Given the description of an element on the screen output the (x, y) to click on. 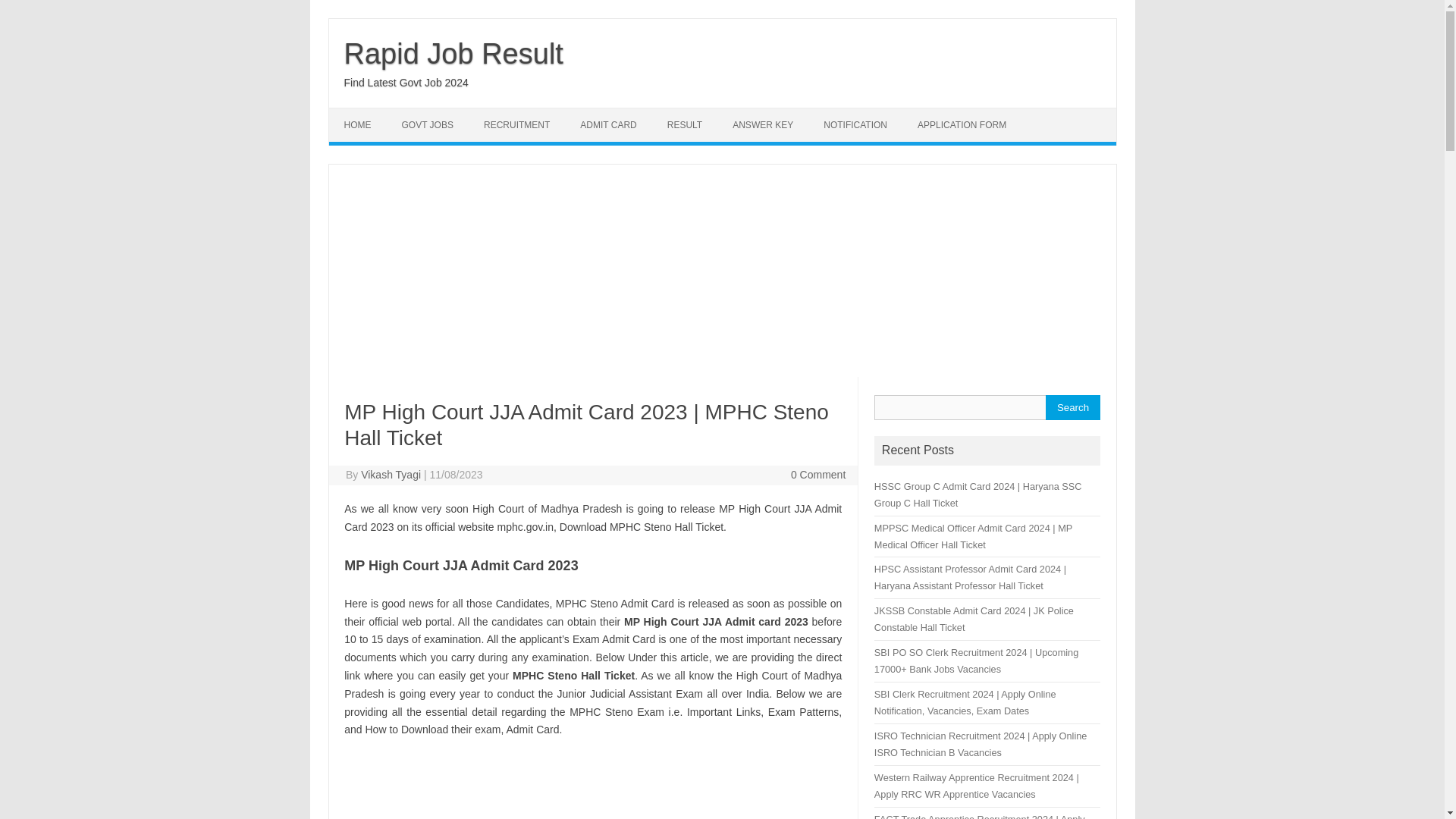
Rapid Job Result (453, 53)
0 Comment (817, 474)
ANSWER KEY (762, 124)
RESULT (684, 124)
Rapid Job Result (453, 53)
GOVT JOBS (427, 124)
NOTIFICATION (855, 124)
HOME (358, 124)
